Given the description of an element on the screen output the (x, y) to click on. 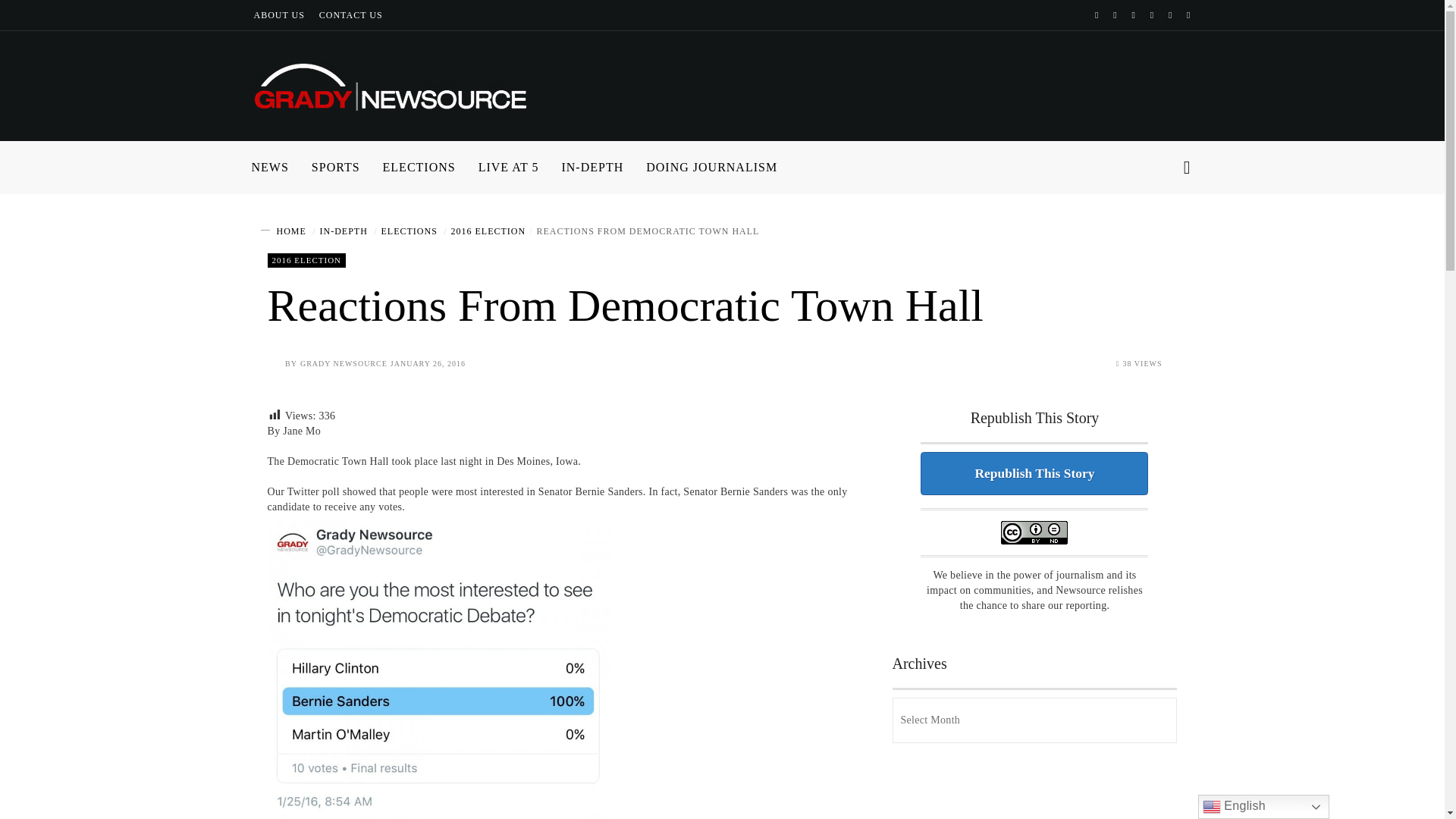
ABOUT US (278, 15)
CONTACT US (350, 15)
View all posts in 2363 (306, 260)
